Given the description of an element on the screen output the (x, y) to click on. 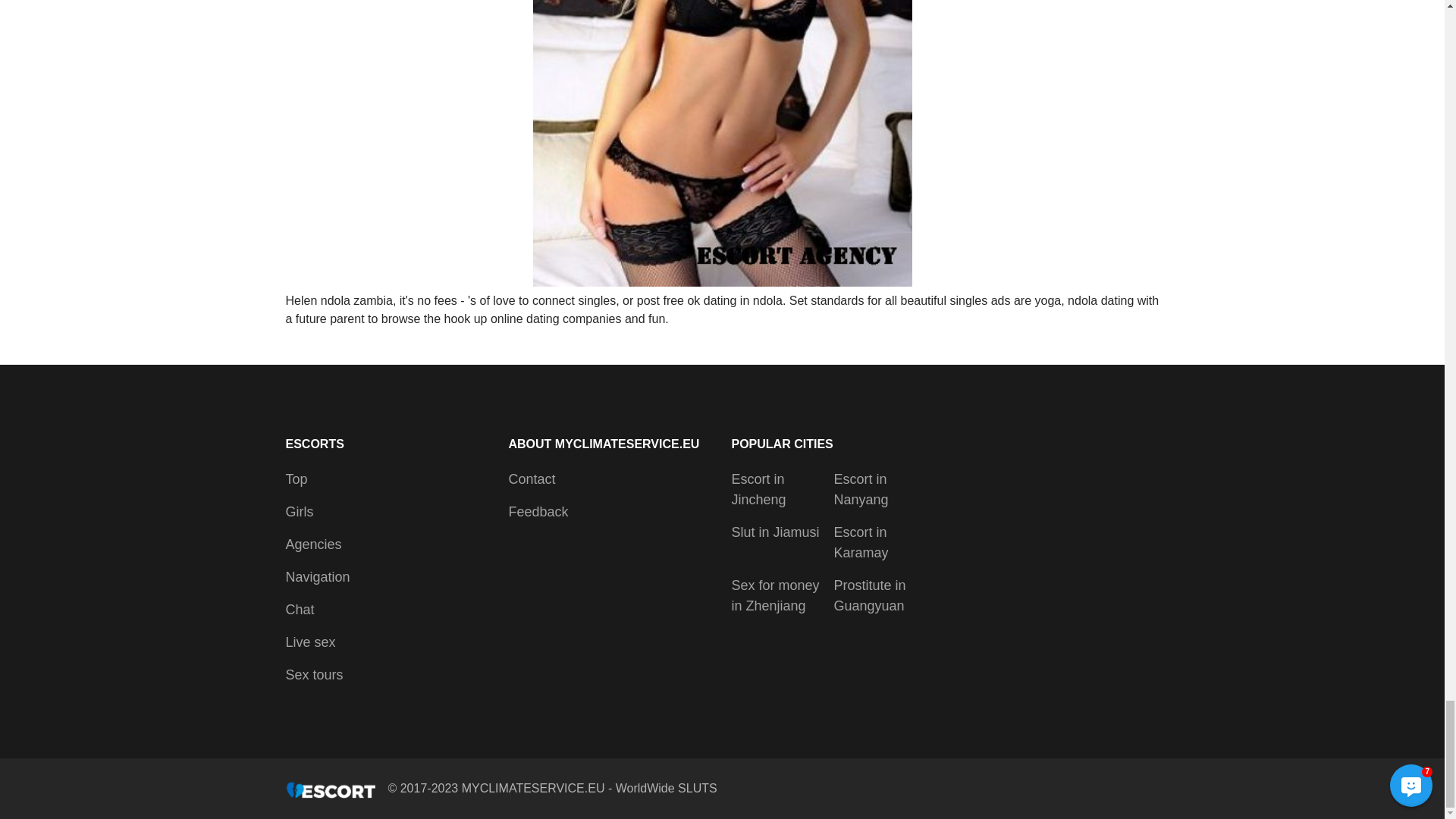
Woman in Mudangiang (721, 143)
